Given the description of an element on the screen output the (x, y) to click on. 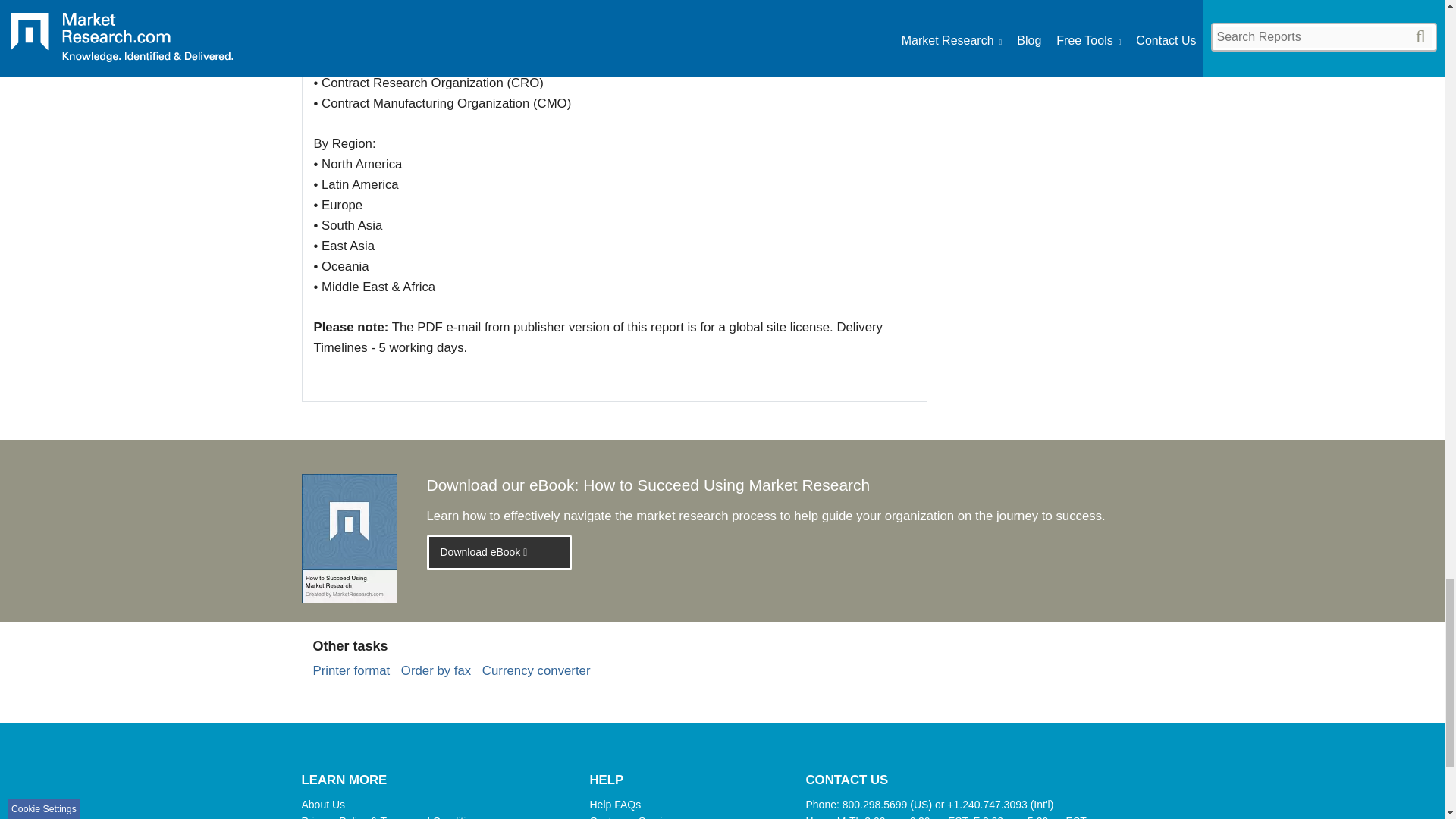
Printer format (351, 670)
Download eBook (499, 552)
Order by fax (435, 670)
